Given the description of an element on the screen output the (x, y) to click on. 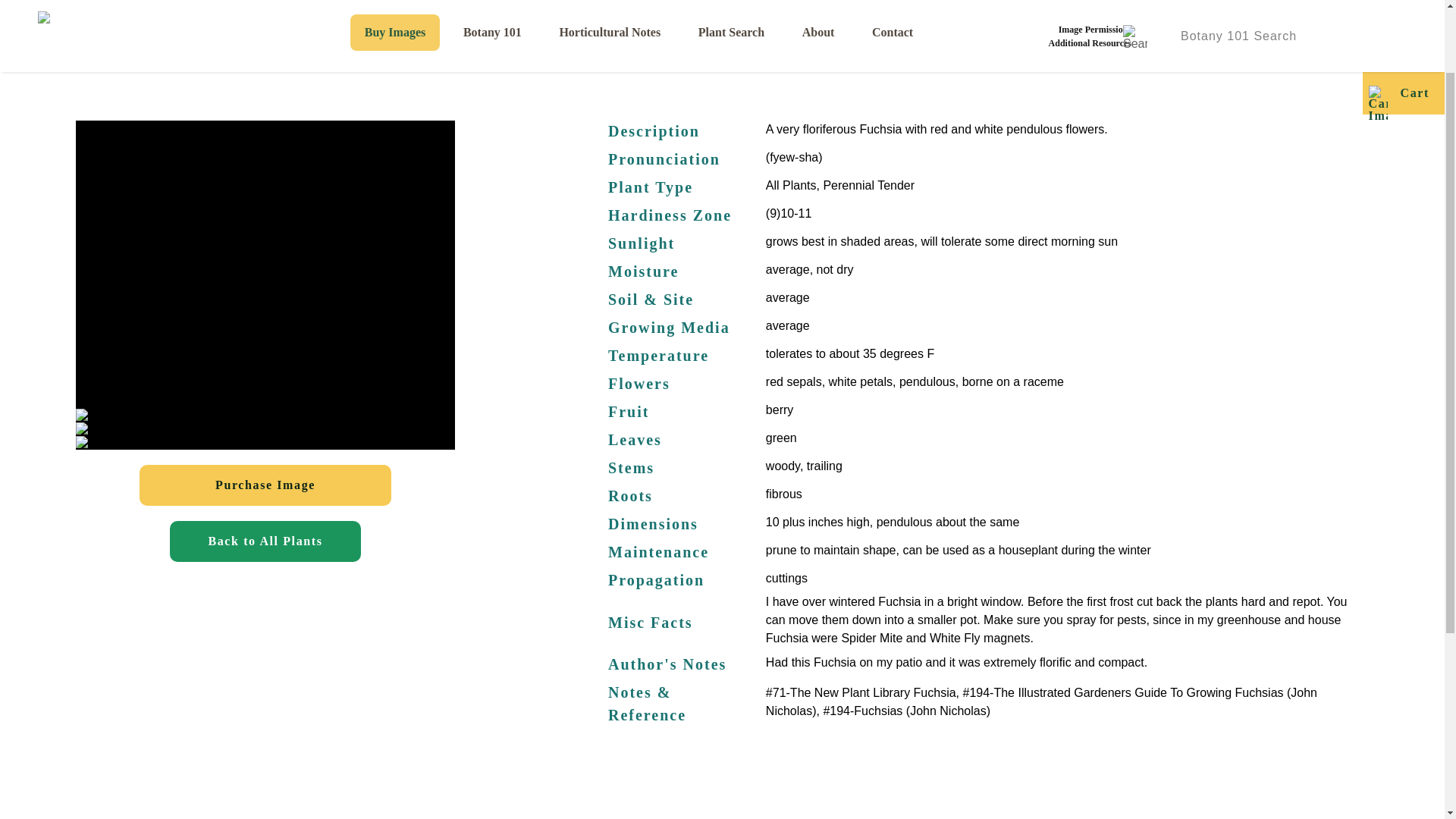
Back to All Plants (264, 540)
Purchase Image (265, 485)
